Given the description of an element on the screen output the (x, y) to click on. 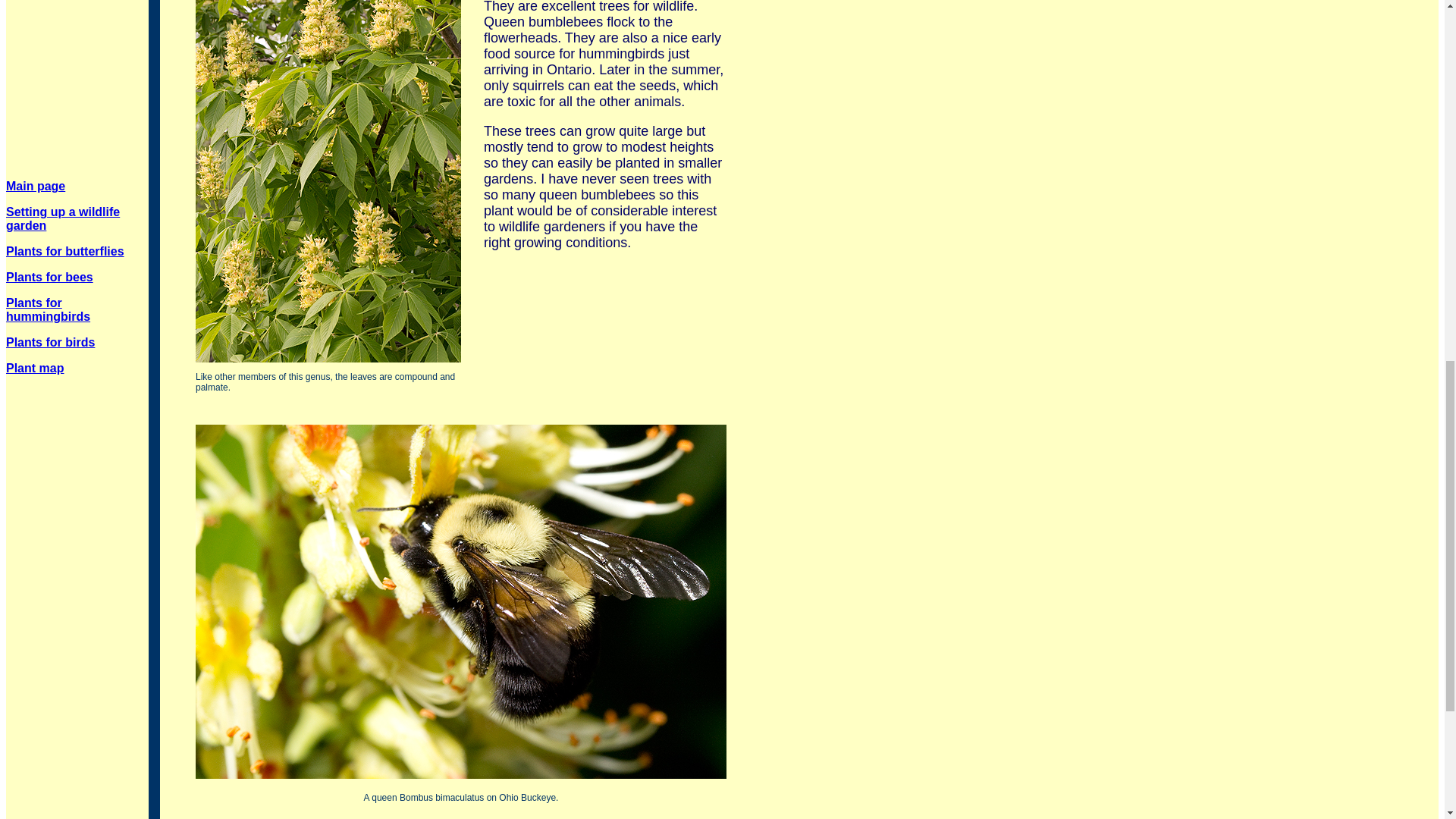
Plant map (34, 367)
Plants for hummingbirds (47, 309)
Plants for bees (49, 277)
Plants for butterflies (64, 250)
Setting up a wildlife garden (62, 218)
Plants for birds (49, 341)
Main page (35, 185)
